Given the description of an element on the screen output the (x, y) to click on. 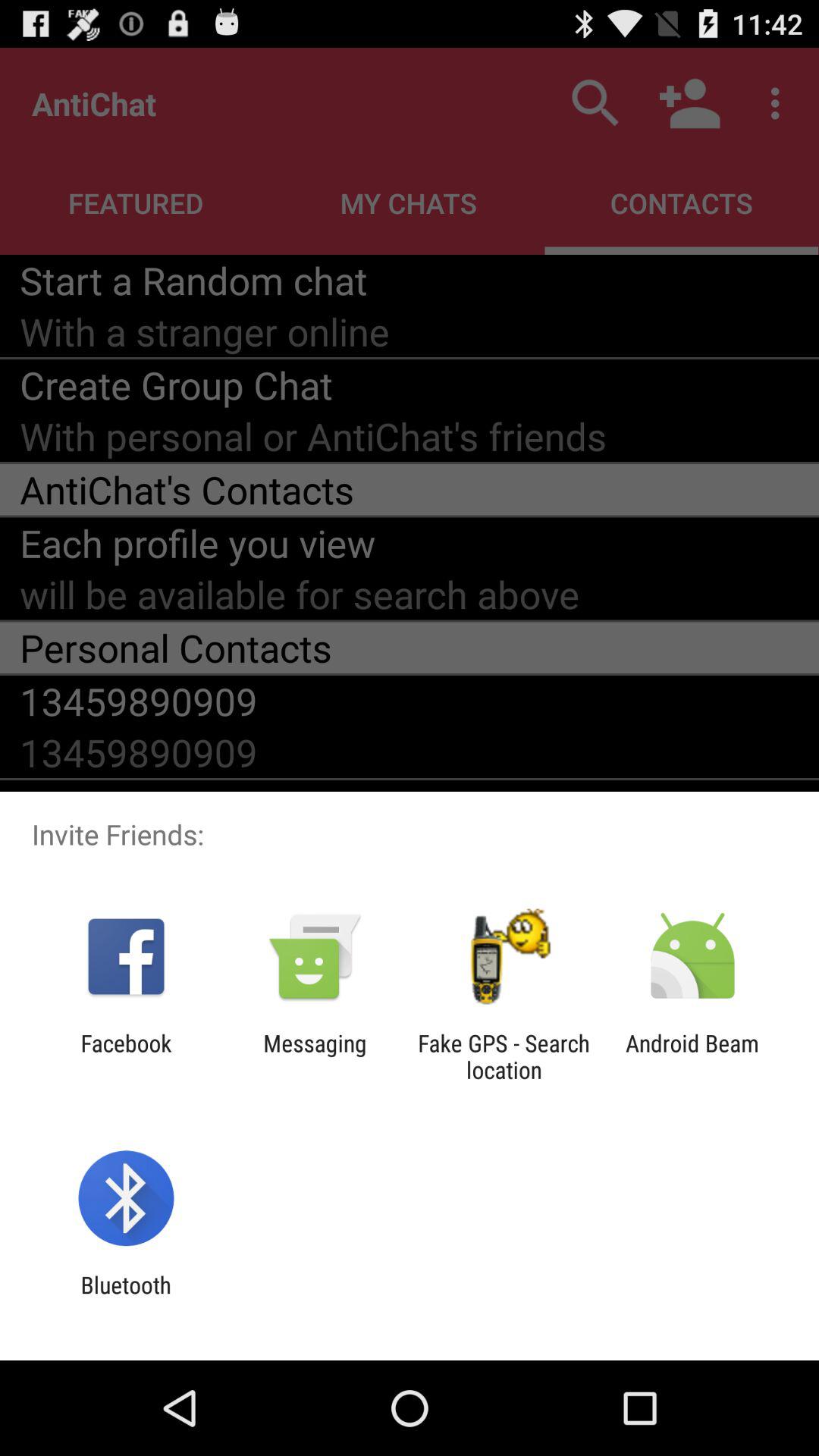
click item next to the messaging item (125, 1056)
